Given the description of an element on the screen output the (x, y) to click on. 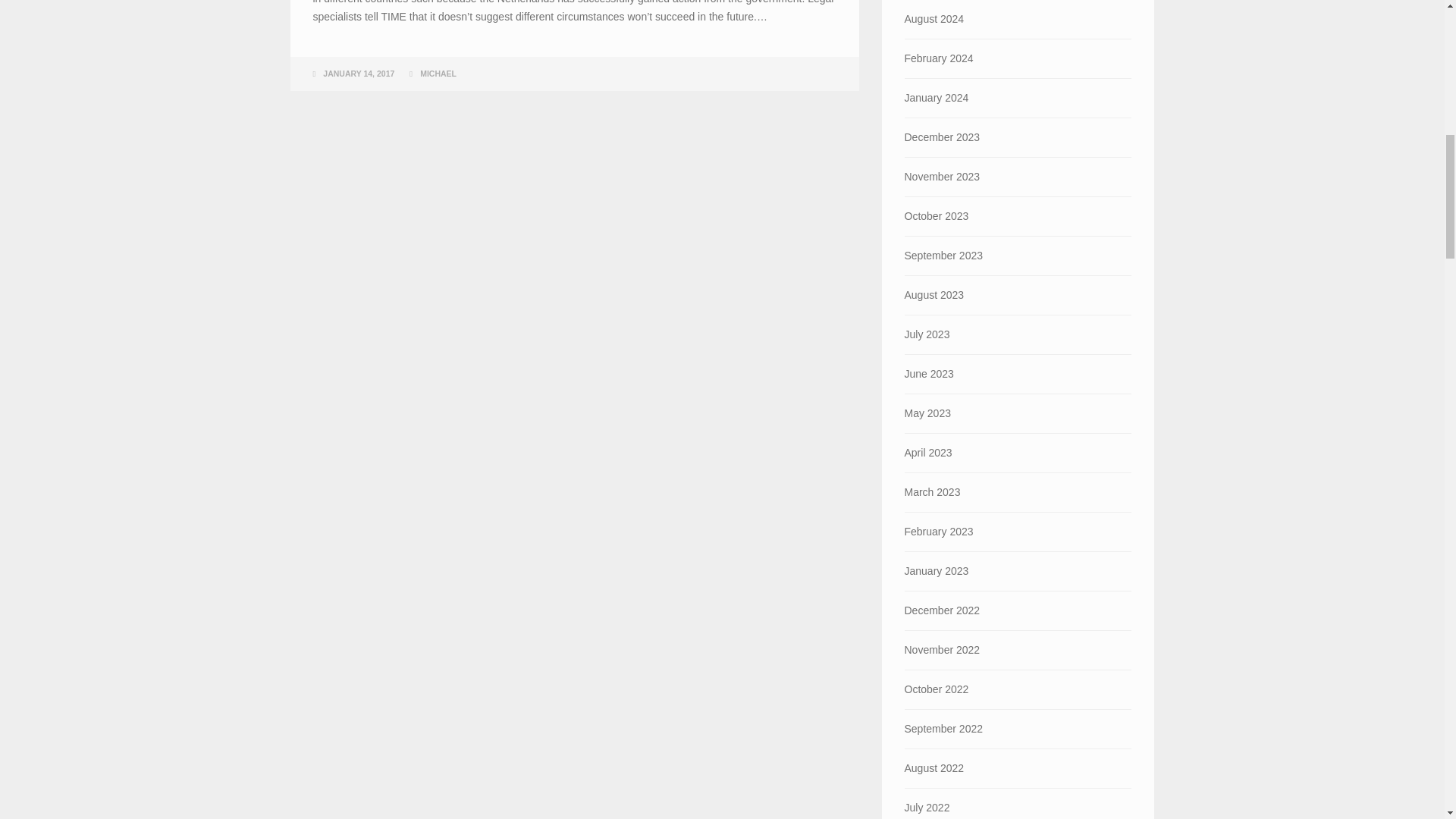
February 2024 (1017, 58)
March 2023 (1017, 492)
September 2023 (1017, 255)
April 2023 (1017, 453)
May 2023 (1017, 413)
October 2023 (1017, 216)
September 2022 (1017, 729)
November 2023 (1017, 177)
November 2022 (1017, 649)
February 2023 (1017, 531)
